Given the description of an element on the screen output the (x, y) to click on. 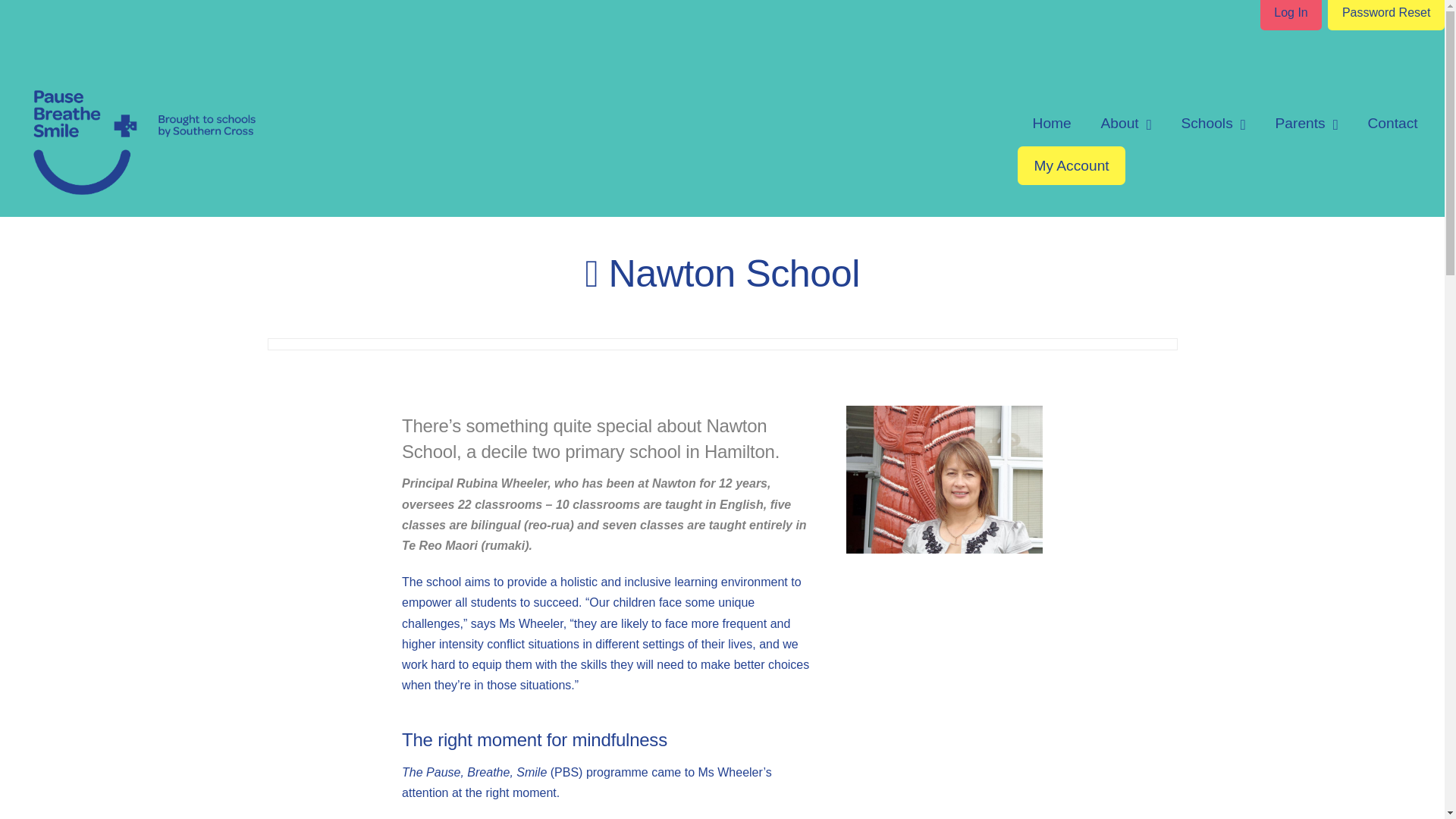
Schools (1213, 122)
Home (1051, 122)
My Account (1071, 165)
About (1126, 122)
Parents (1306, 122)
Log In (1291, 14)
Contact (1392, 122)
